Given the description of an element on the screen output the (x, y) to click on. 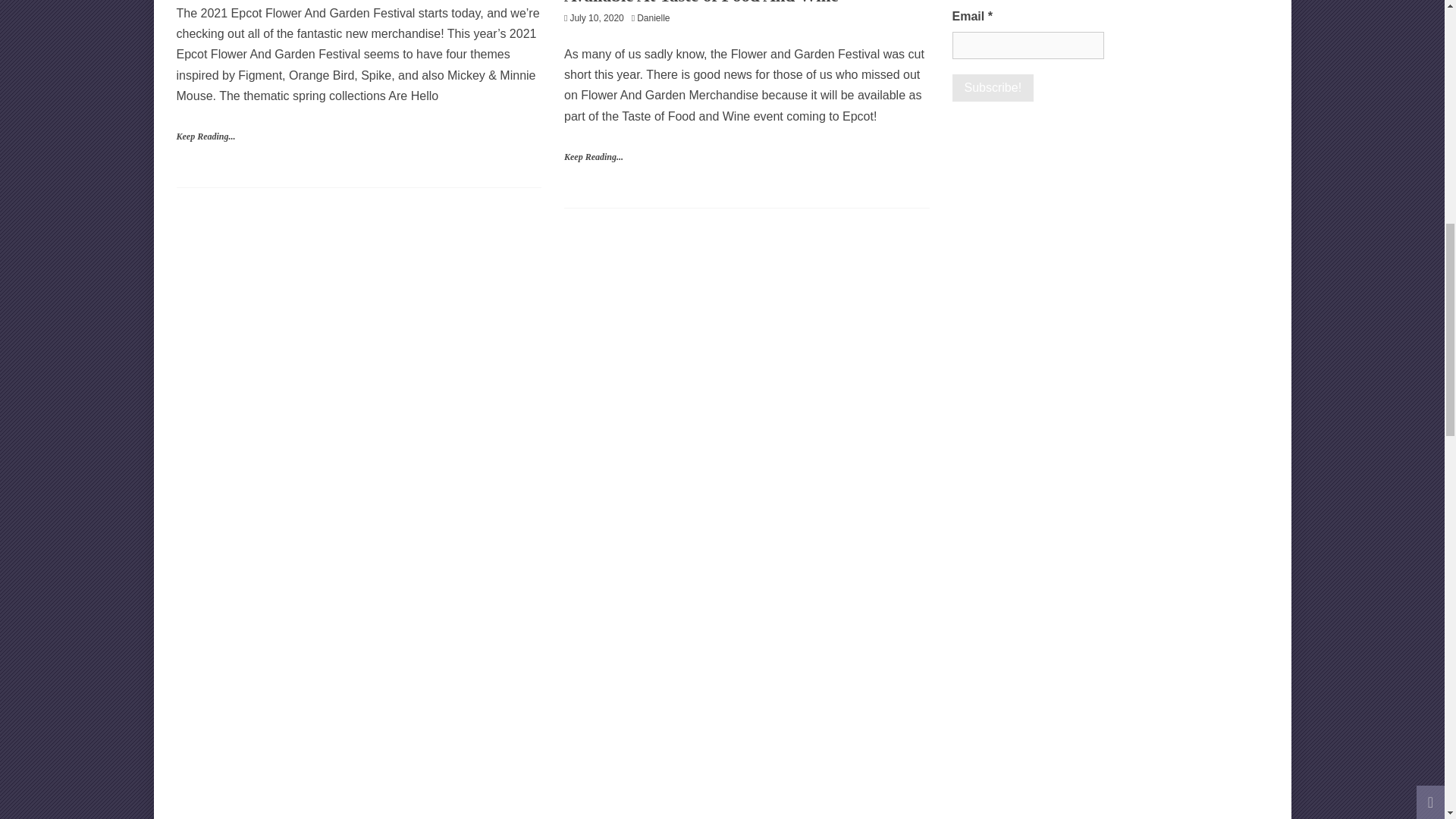
Subscribe! (992, 87)
Email (1027, 44)
